Given the description of an element on the screen output the (x, y) to click on. 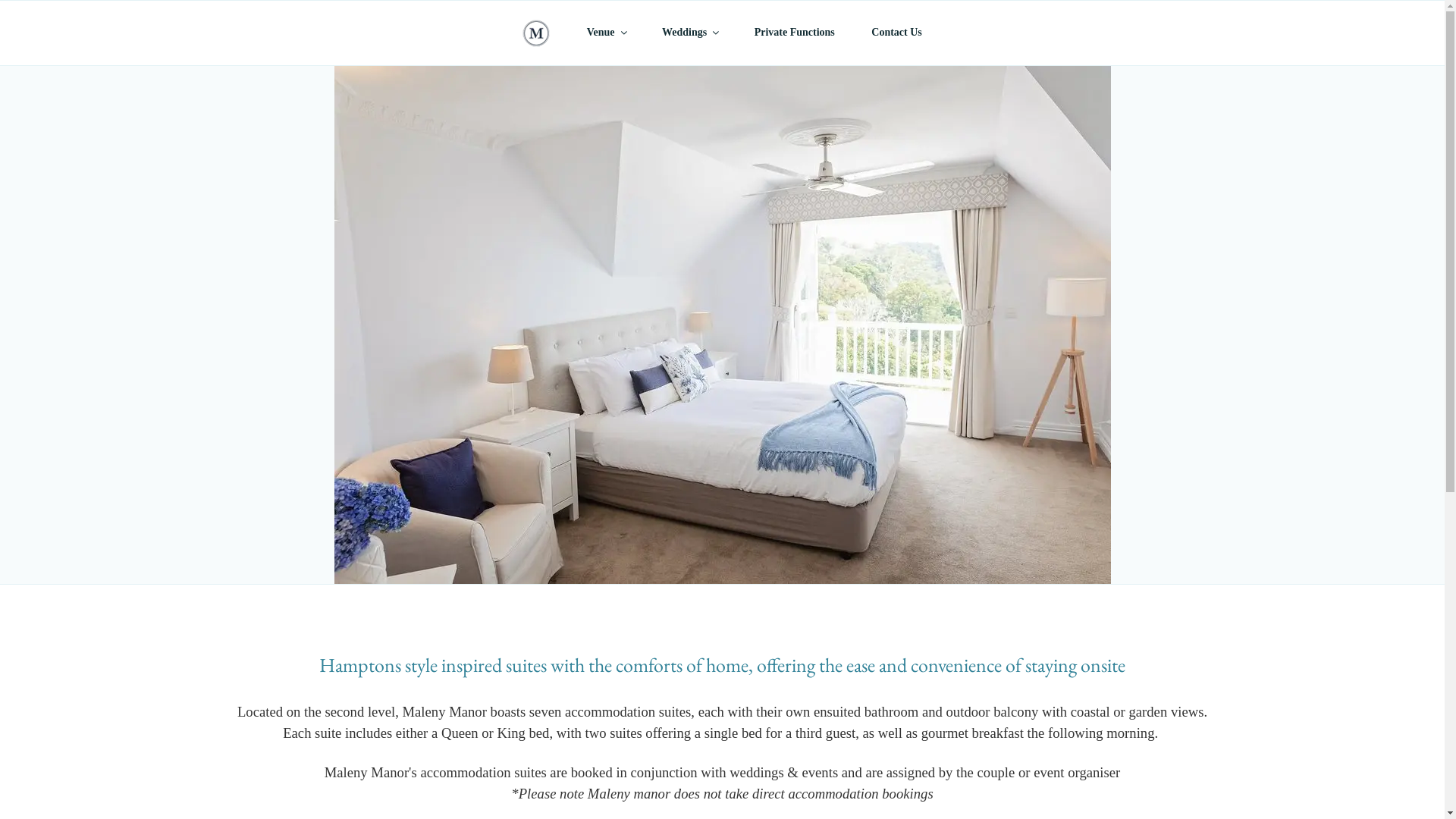
Weddings Element type: text (686, 31)
Private Functions Element type: text (790, 31)
Contact Us Element type: text (892, 31)
Venue Element type: text (601, 31)
